Given the description of an element on the screen output the (x, y) to click on. 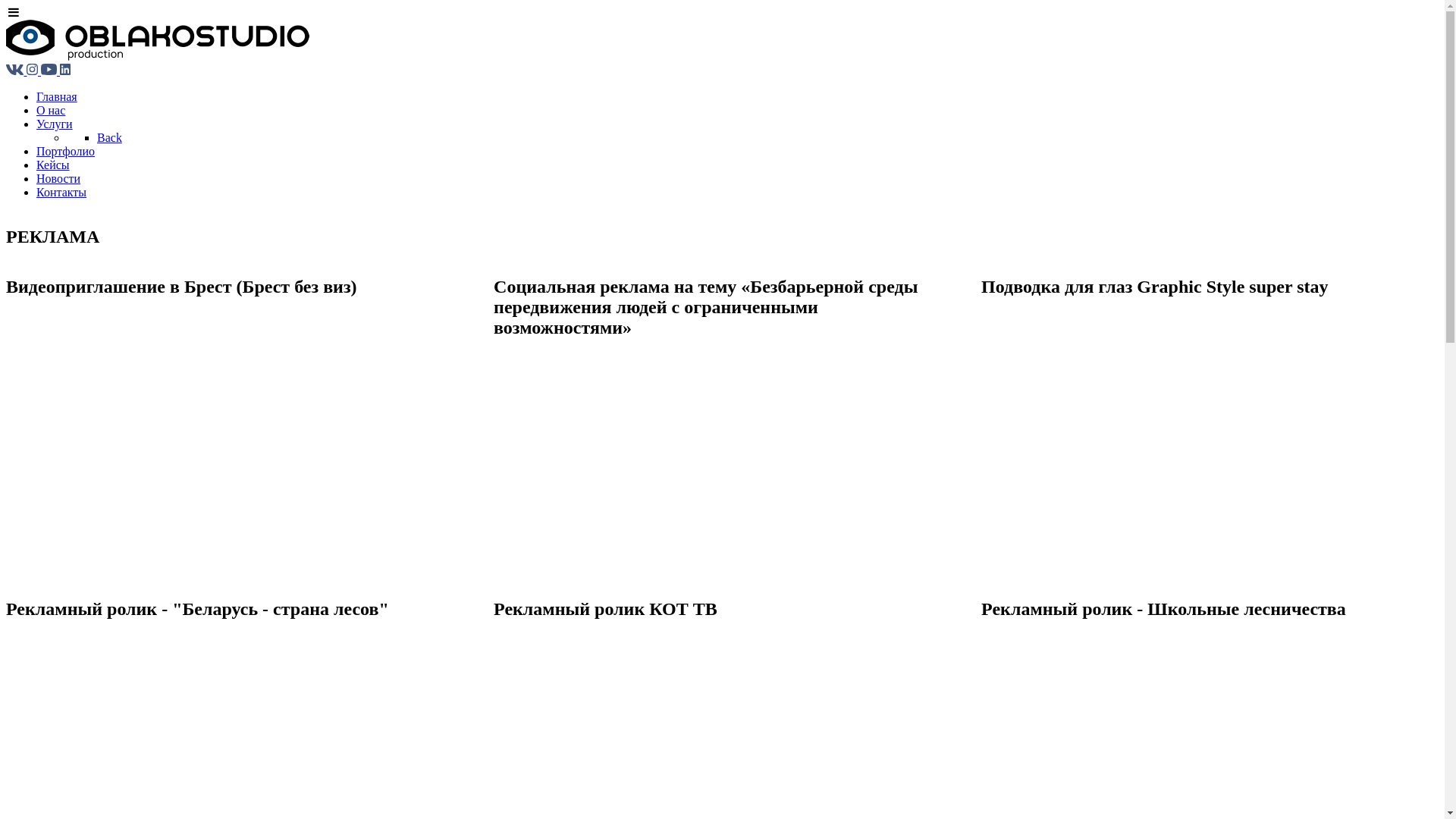
link Element type: hover (64, 70)
YouTube video player Element type: hover (1191, 425)
Back Element type: text (109, 137)
vk Element type: hover (16, 70)
youtube Element type: hover (49, 70)
instagram Element type: hover (33, 70)
YouTube video player Element type: hover (216, 425)
YouTube video player Element type: hover (704, 466)
